Given the description of an element on the screen output the (x, y) to click on. 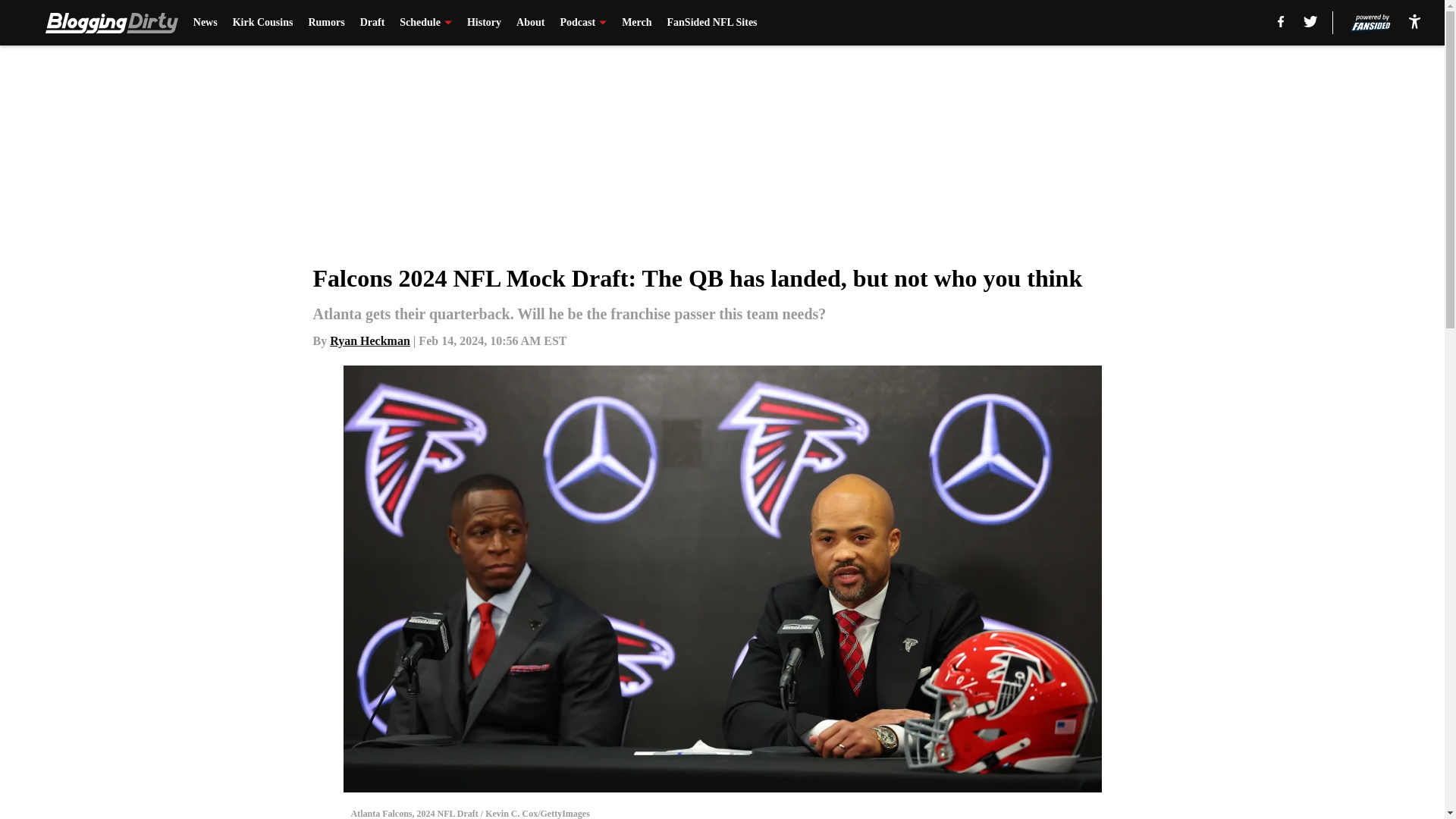
Rumors (325, 22)
Merch (635, 22)
Draft (372, 22)
About (530, 22)
Kirk Cousins (263, 22)
FanSided NFL Sites (711, 22)
Ryan Heckman (370, 340)
History (483, 22)
News (204, 22)
